Given the description of an element on the screen output the (x, y) to click on. 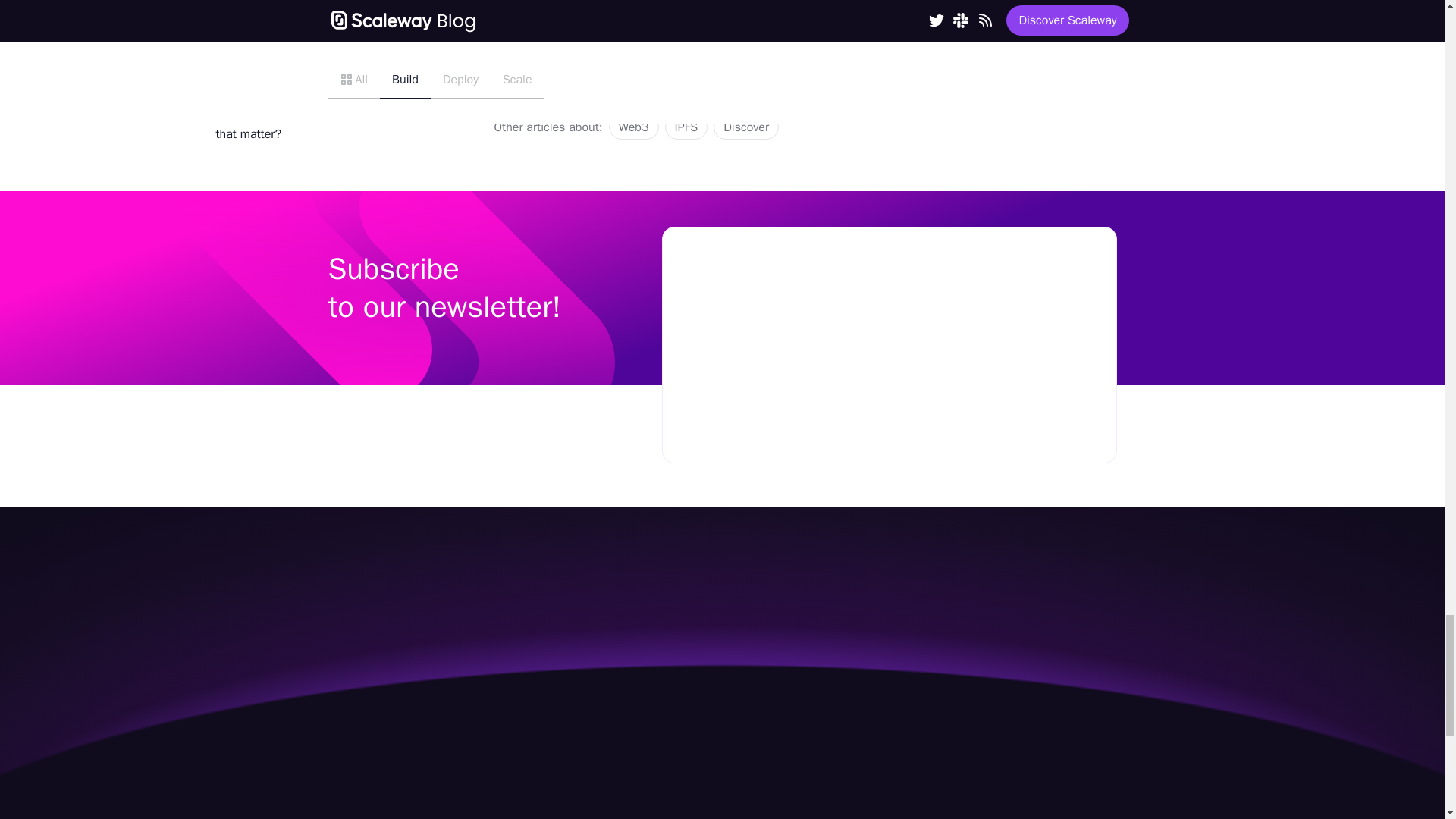
IPFS (686, 127)
Discover (745, 127)
Web3 (633, 127)
